Given the description of an element on the screen output the (x, y) to click on. 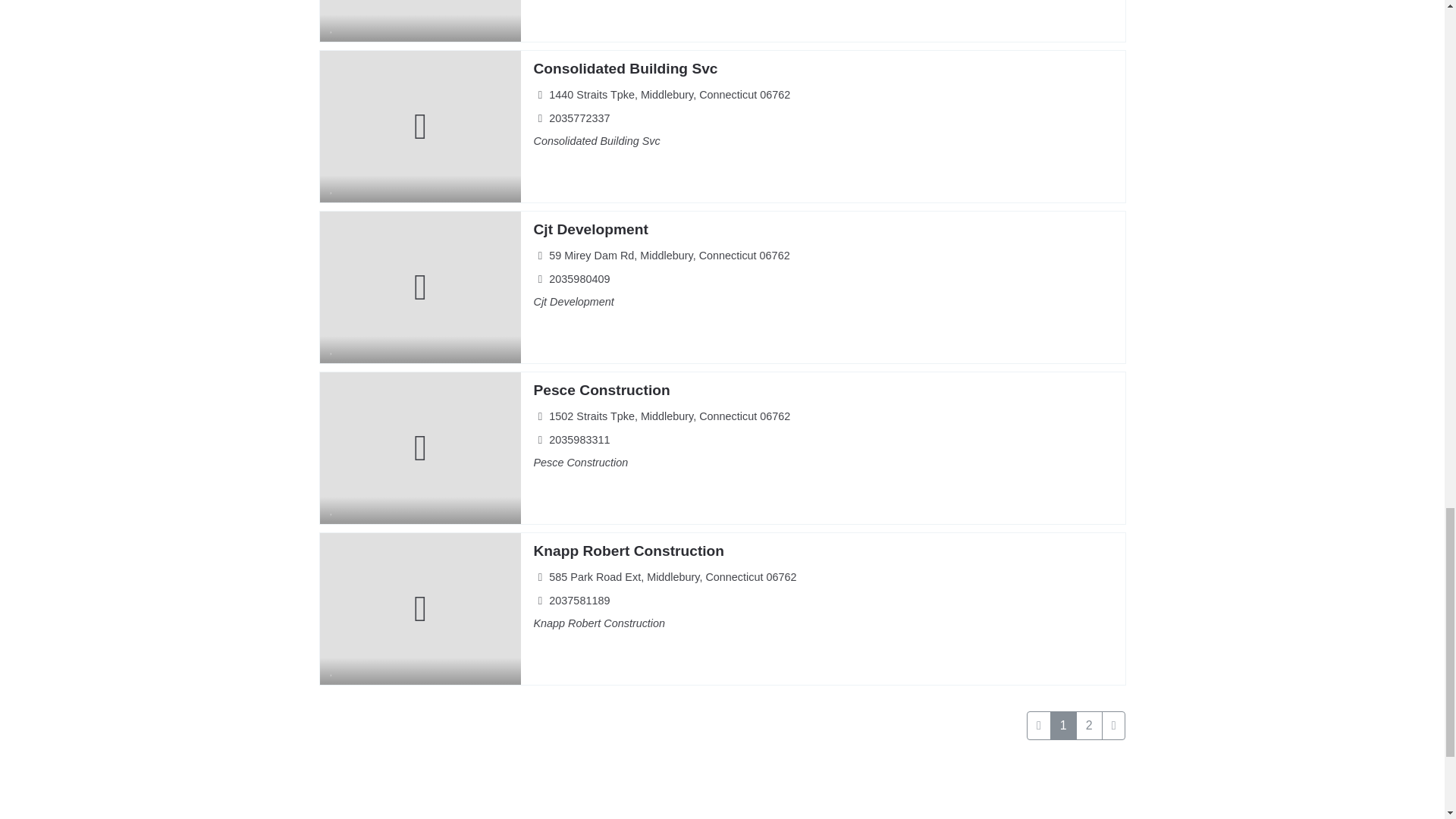
Consolidated Building Svc (624, 68)
Cjt Development (589, 229)
